Given the description of an element on the screen output the (x, y) to click on. 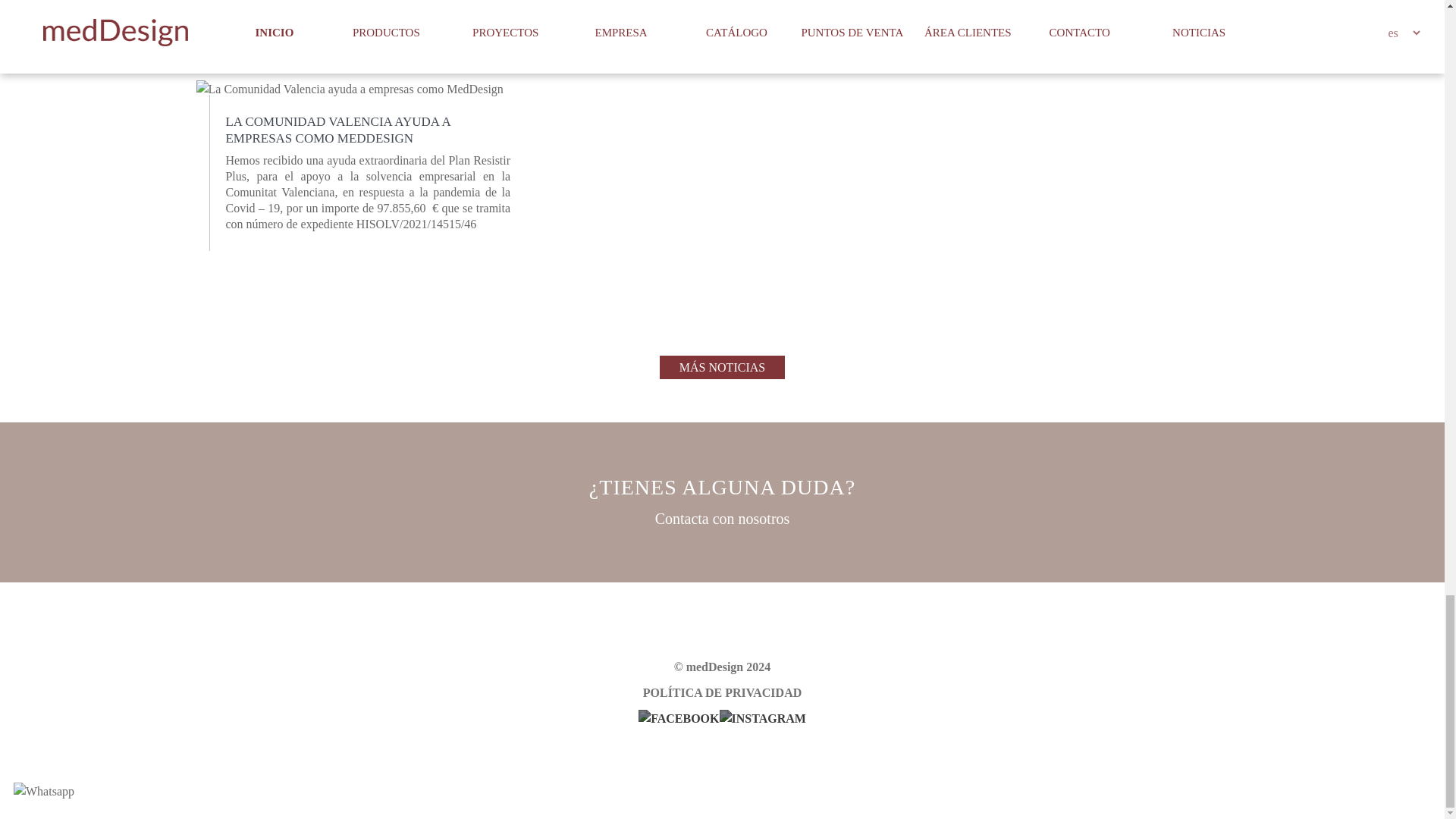
LA COMUNIDAD VALENCIA AYUDA A EMPRESAS COMO MEDDESIGN (337, 129)
La Comunidad Valencia ayuda a empresas como MedDesign (348, 89)
